Given the description of an element on the screen output the (x, y) to click on. 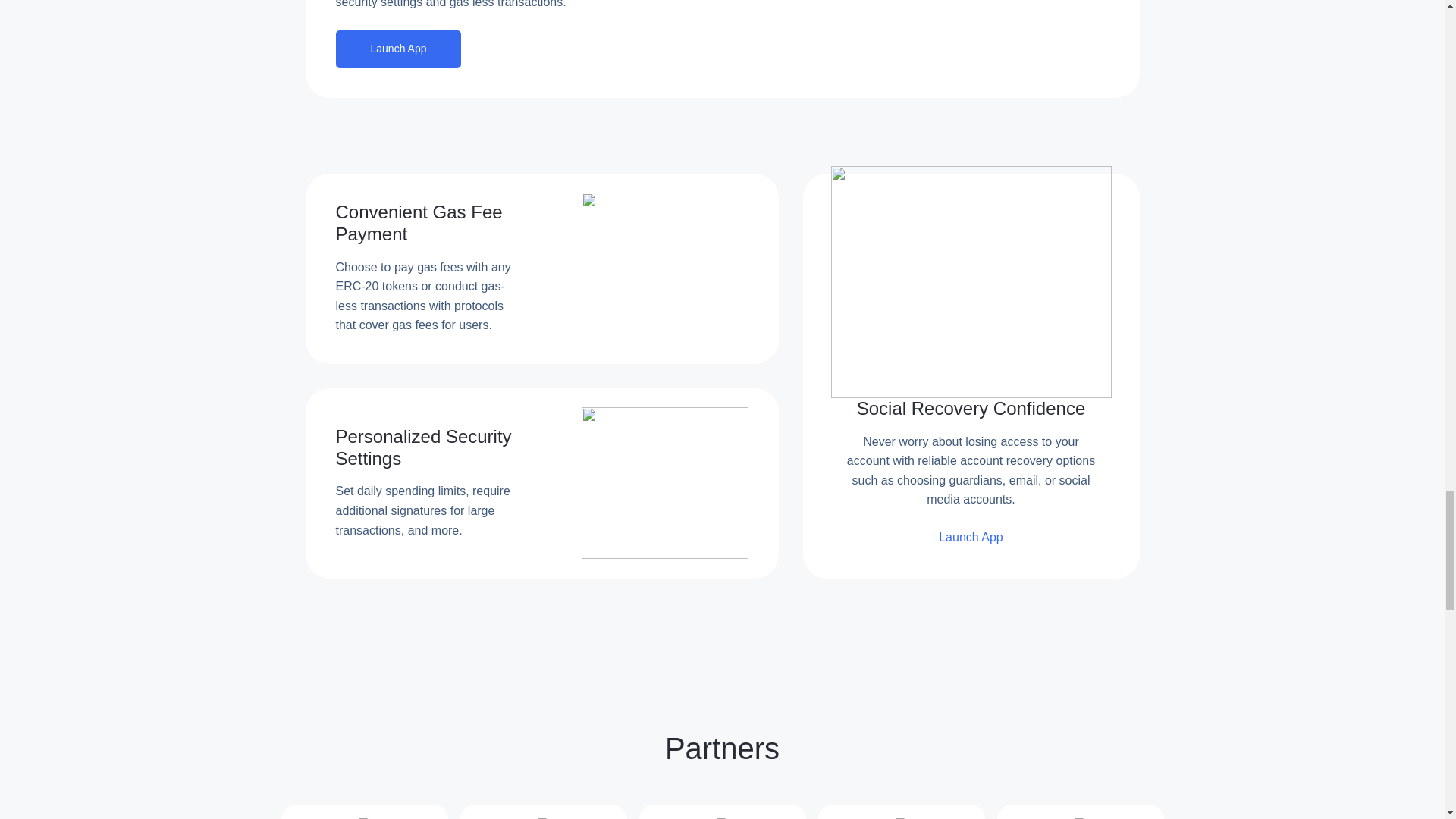
Launch App (397, 48)
